Given the description of an element on the screen output the (x, y) to click on. 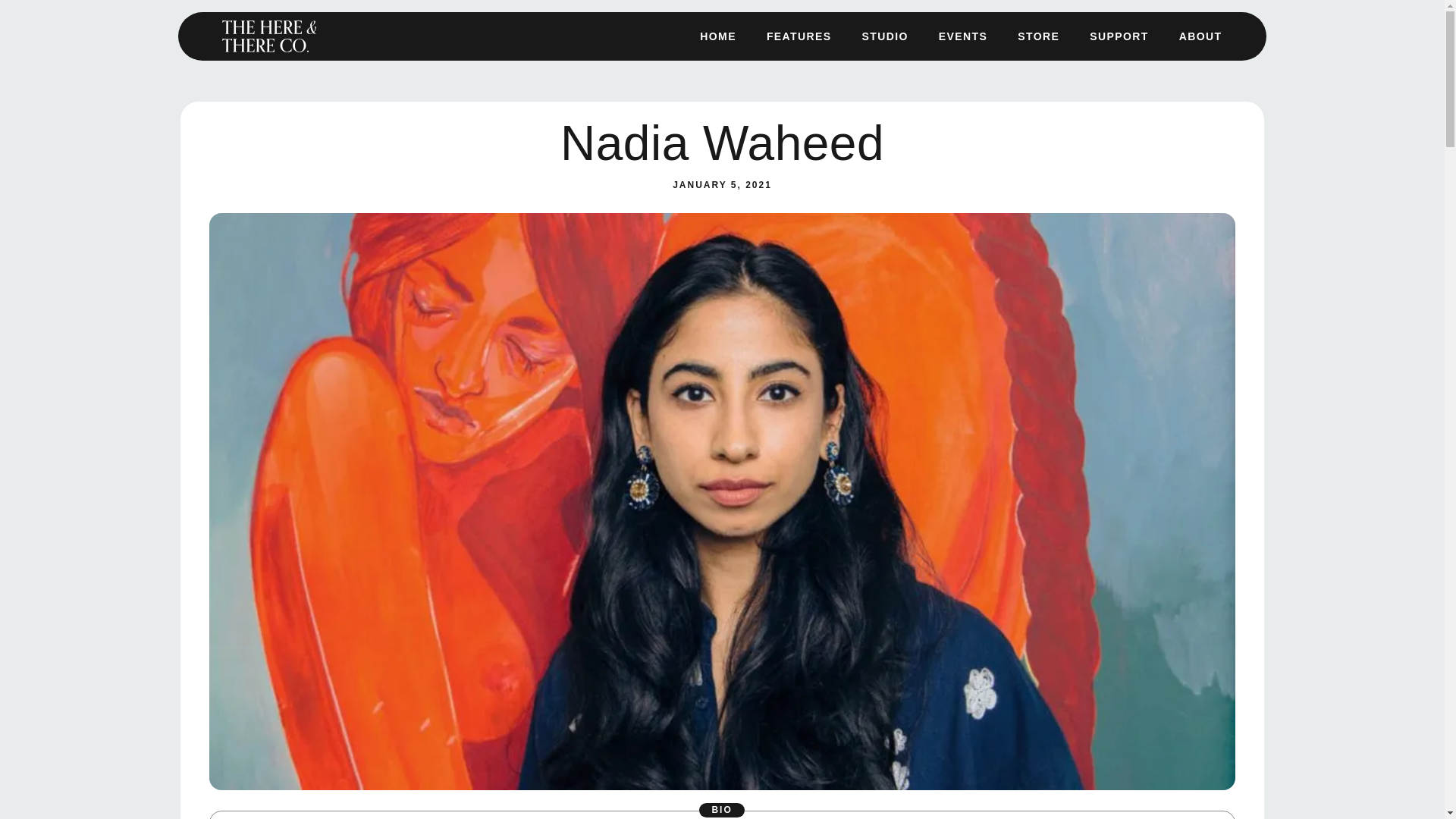
ABOUT (1201, 10)
STORE (1038, 5)
BIO (722, 810)
EVENTS (963, 3)
STUDIO (884, 0)
SUPPORT (1118, 7)
